Given the description of an element on the screen output the (x, y) to click on. 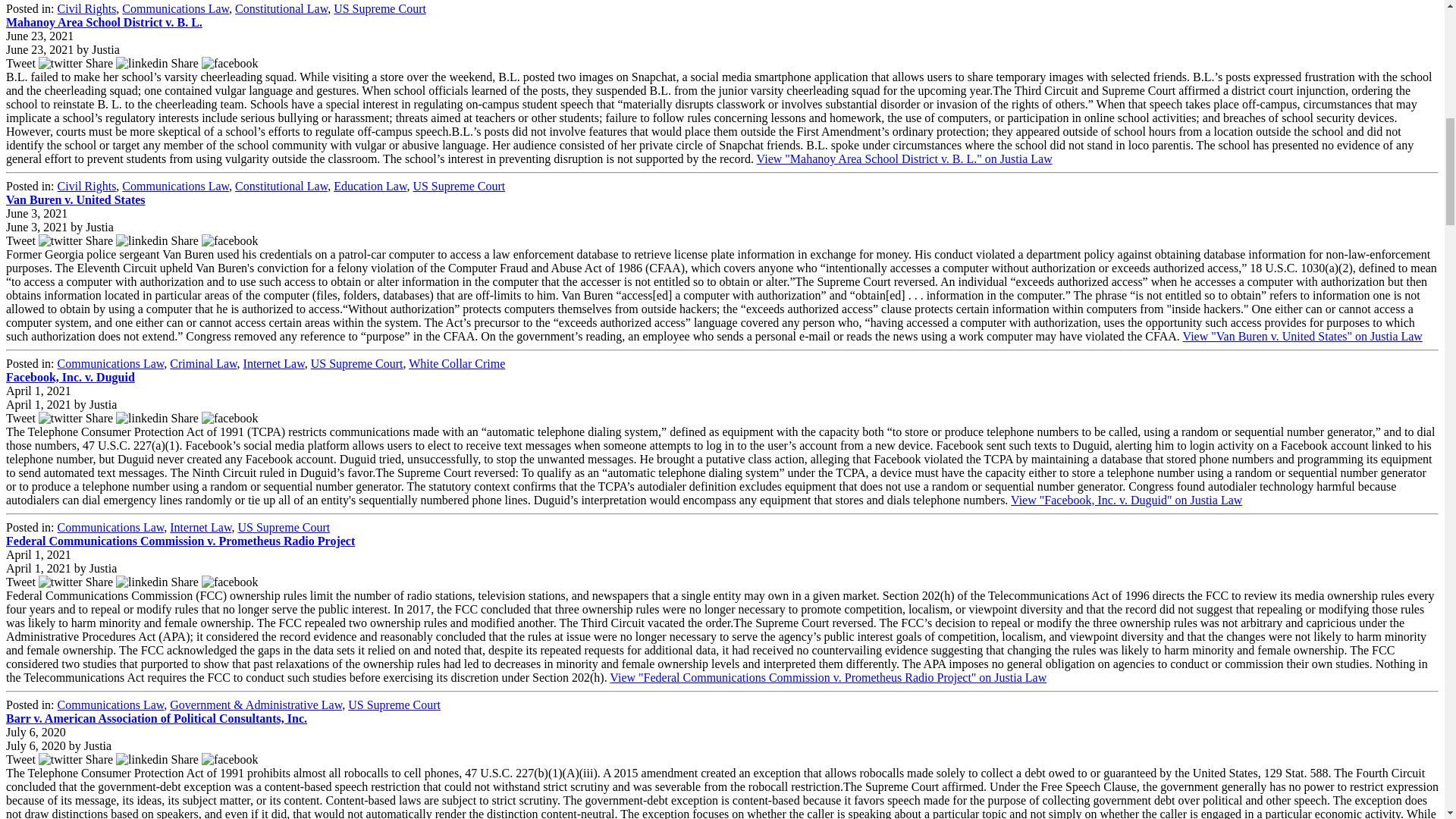
View all posts in Civil Rights (87, 185)
Permalink to Mahanoy Area School District v. B. L. (103, 21)
View all posts in Constitutional Law (280, 8)
View all posts in Civil Rights (87, 8)
View all posts in US Supreme Court (379, 8)
Permalink to Van Buren v. United States (75, 199)
View all posts in Constitutional Law (280, 185)
View all posts in Communications Law (175, 8)
View all posts in Education Law (369, 185)
View all posts in US Supreme Court (458, 185)
View all posts in Communications Law (175, 185)
